Given the description of an element on the screen output the (x, y) to click on. 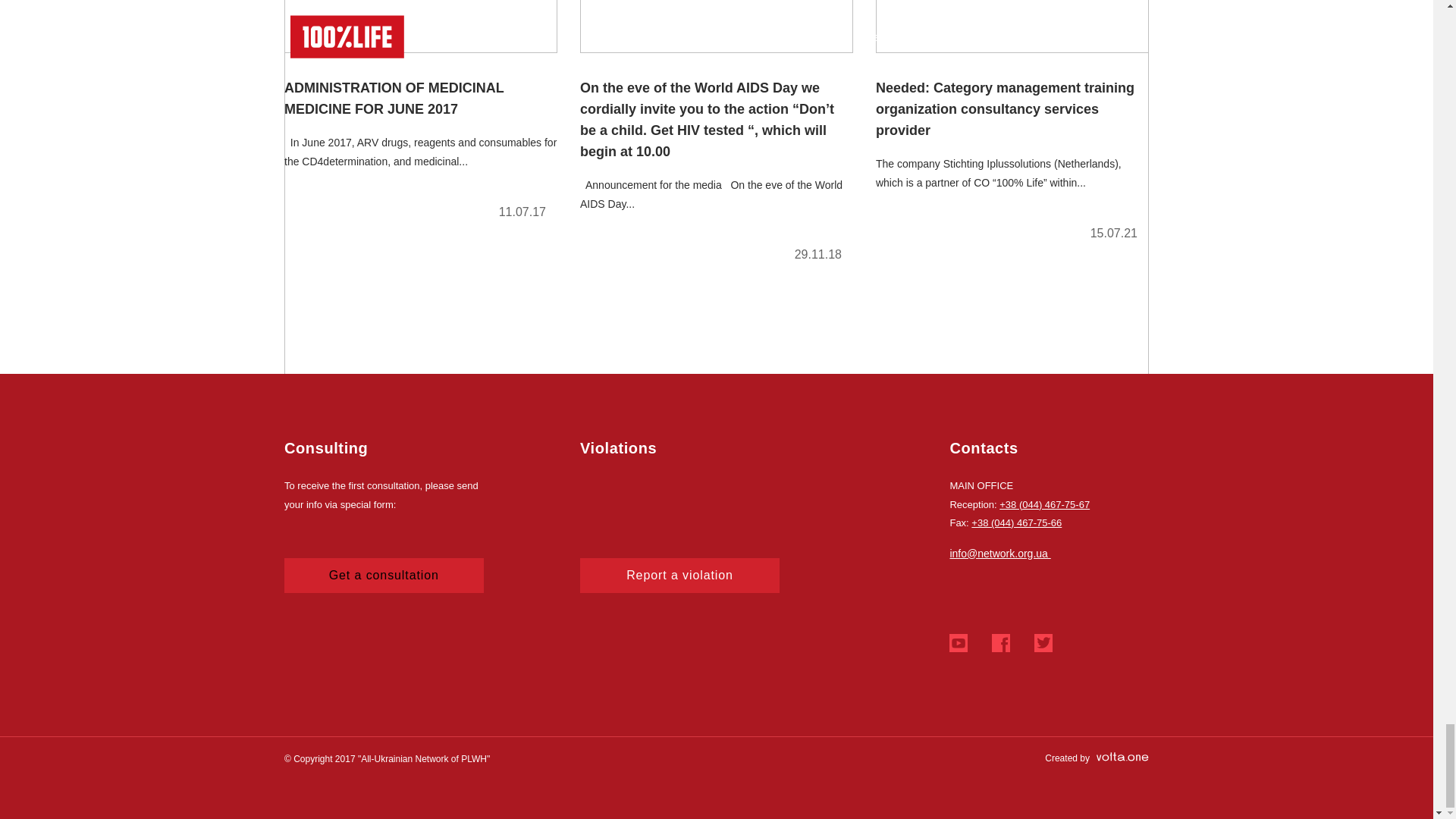
Get a consultation (383, 574)
Get a consultation (383, 574)
ADMINISTRATION OF MEDICINAL MEDICINE FOR JUNE 2017 (420, 116)
Report a violation (678, 574)
Report a violation (678, 574)
Created by (1096, 757)
